Given the description of an element on the screen output the (x, y) to click on. 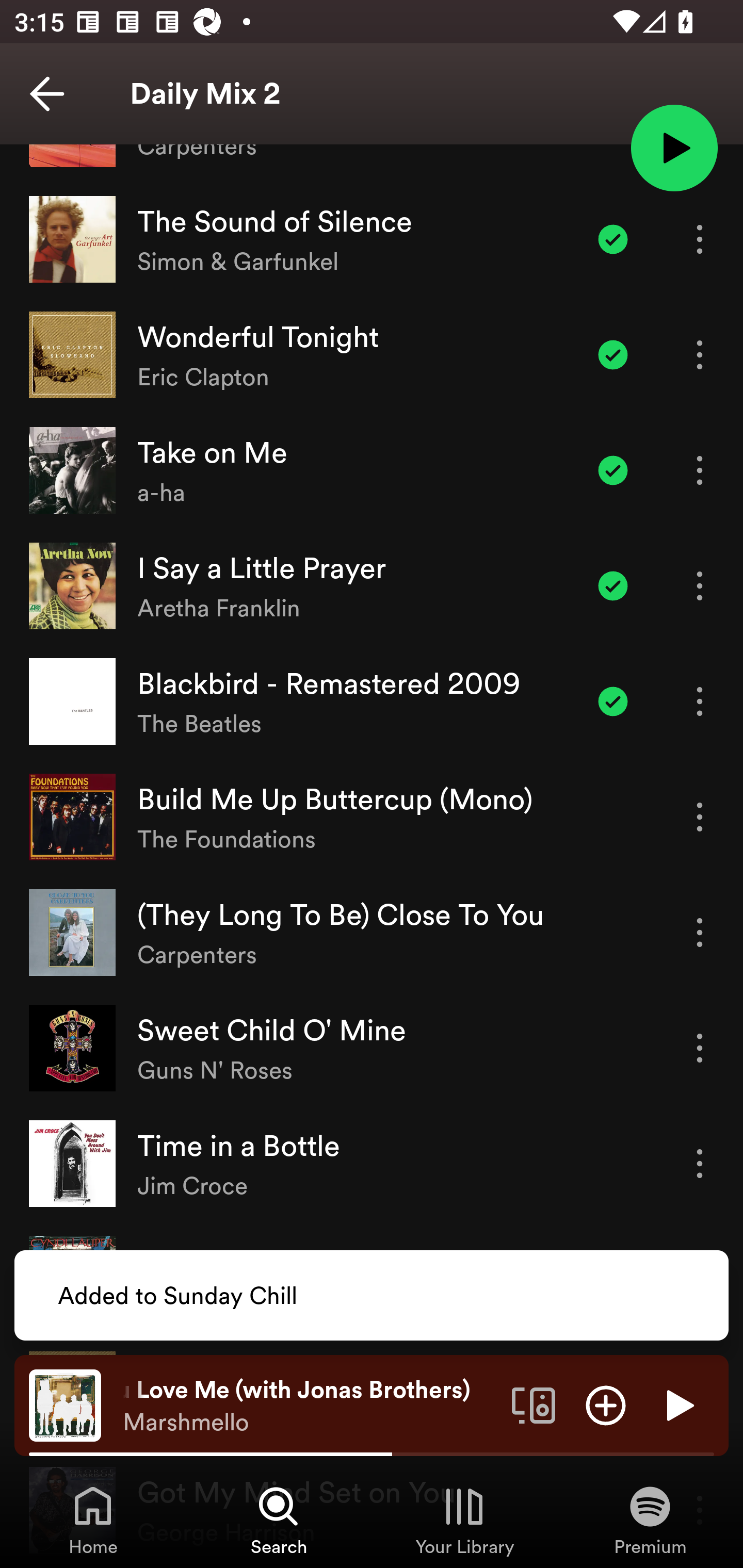
Back (46, 93)
Play playlist (674, 147)
Item added (612, 239)
More options for song The Sound of Silence (699, 239)
Item added (612, 355)
More options for song Wonderful Tonight (699, 355)
Item added (612, 470)
More options for song Take on Me (699, 470)
Item added (612, 585)
More options for song I Say a Little Prayer (699, 585)
Item added (612, 701)
More options for song Blackbird - Remastered 2009 (699, 701)
More options for song Build Me Up Buttercup (Mono) (699, 816)
